Given the description of an element on the screen output the (x, y) to click on. 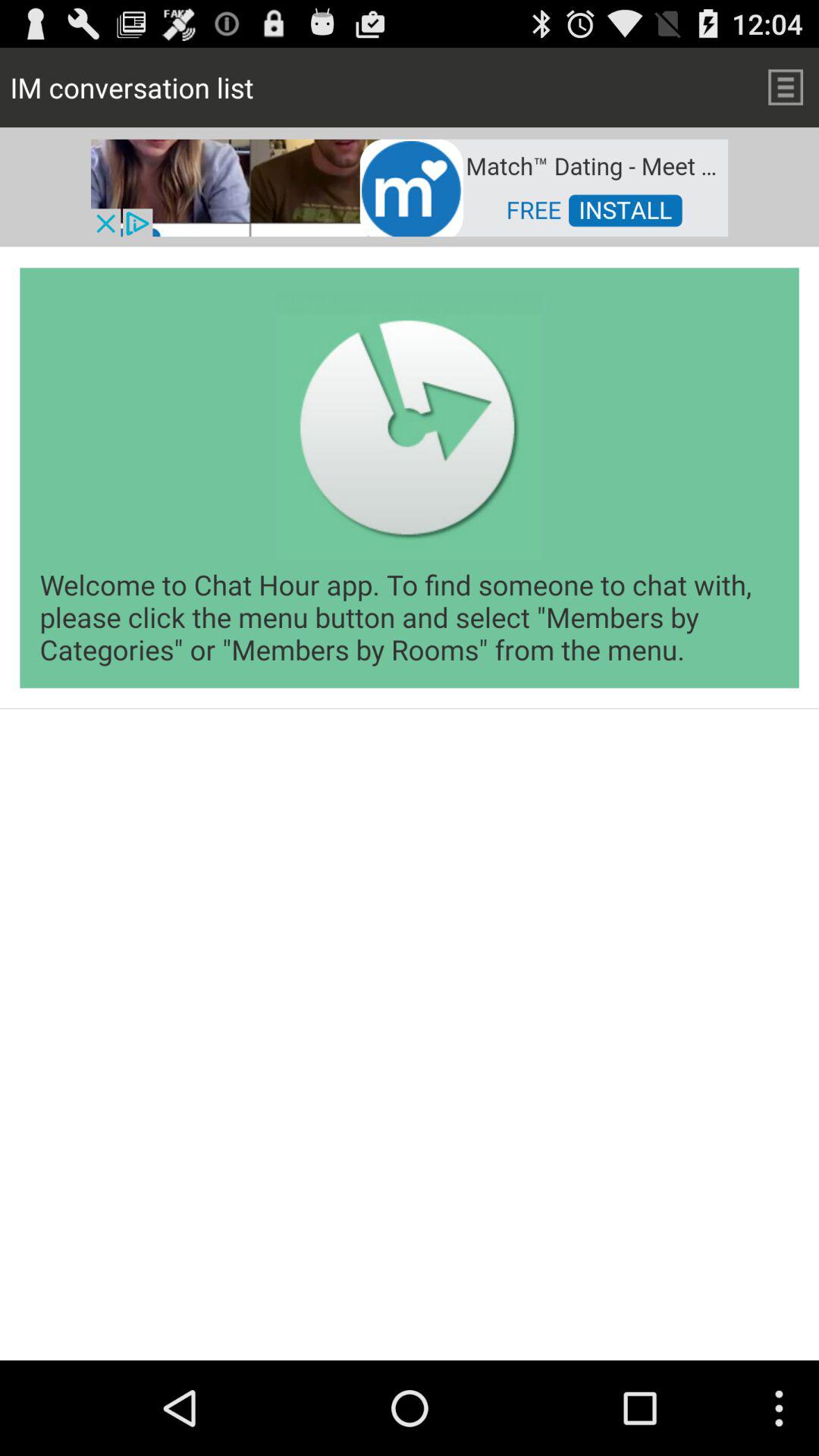
options (785, 87)
